Given the description of an element on the screen output the (x, y) to click on. 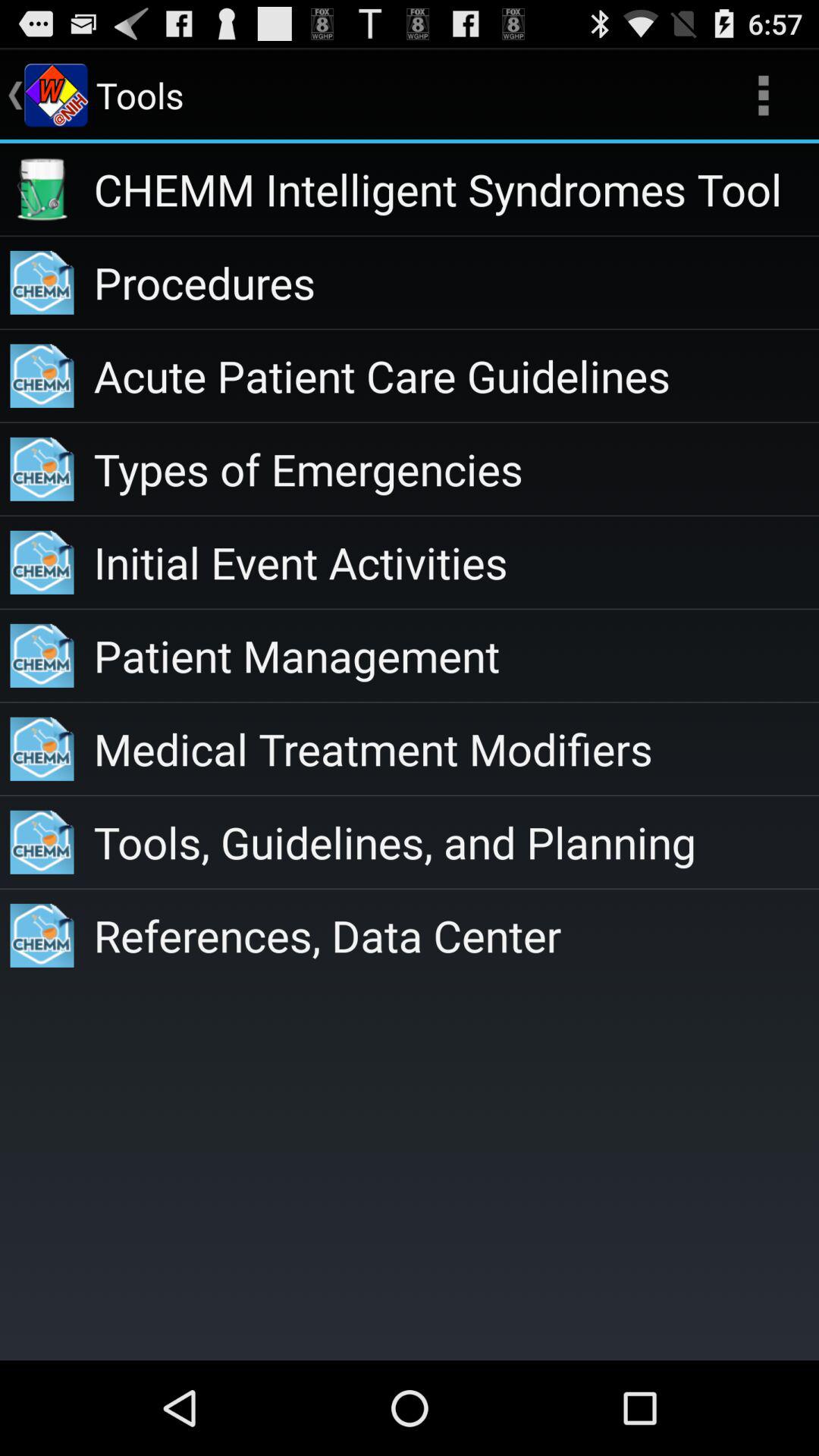
select the icon below tools guidelines and icon (456, 935)
